Given the description of an element on the screen output the (x, y) to click on. 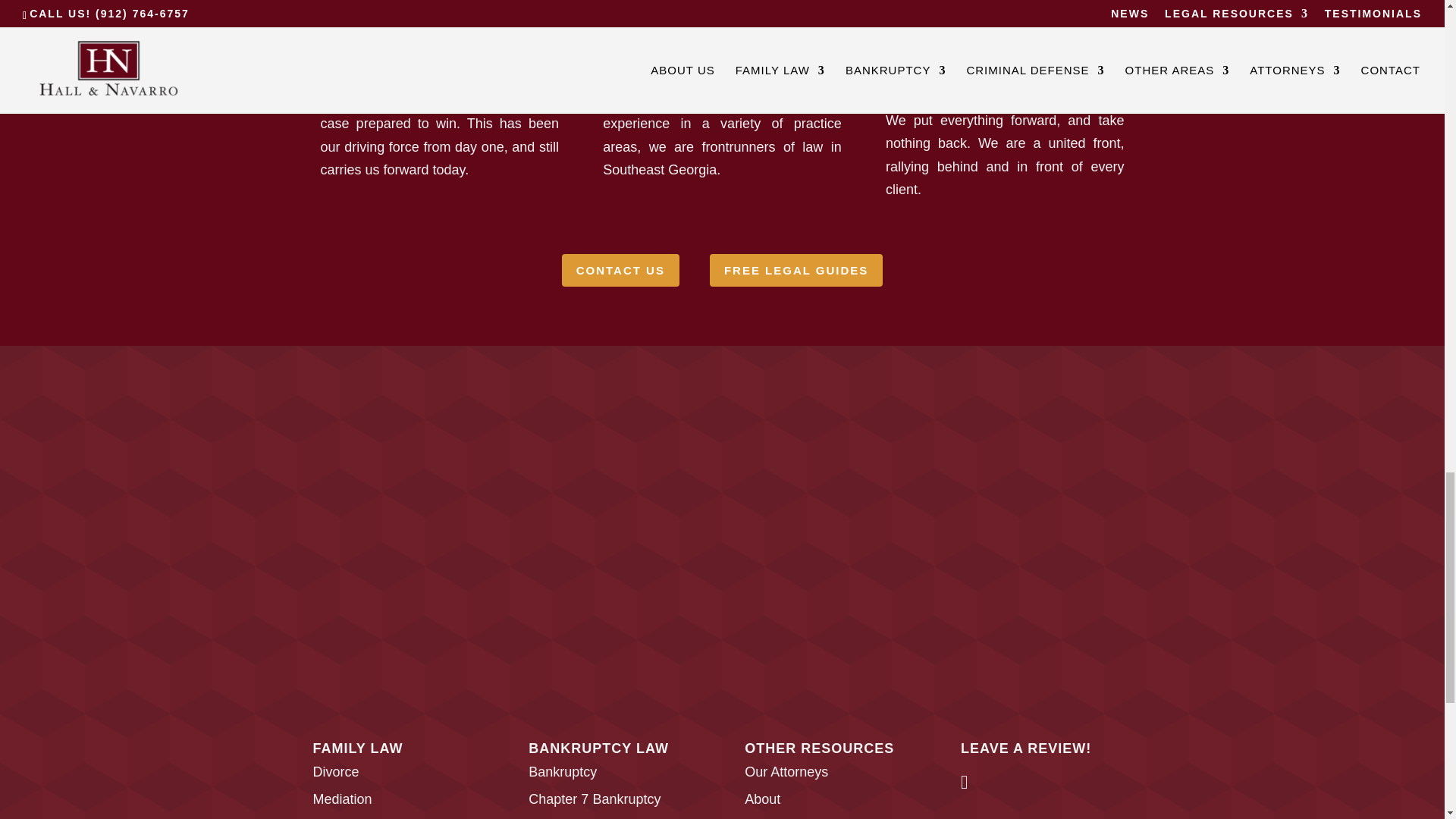
2024 Badges (721, 542)
Divorce Process Timeline in Georgia (964, 783)
